Given the description of an element on the screen output the (x, y) to click on. 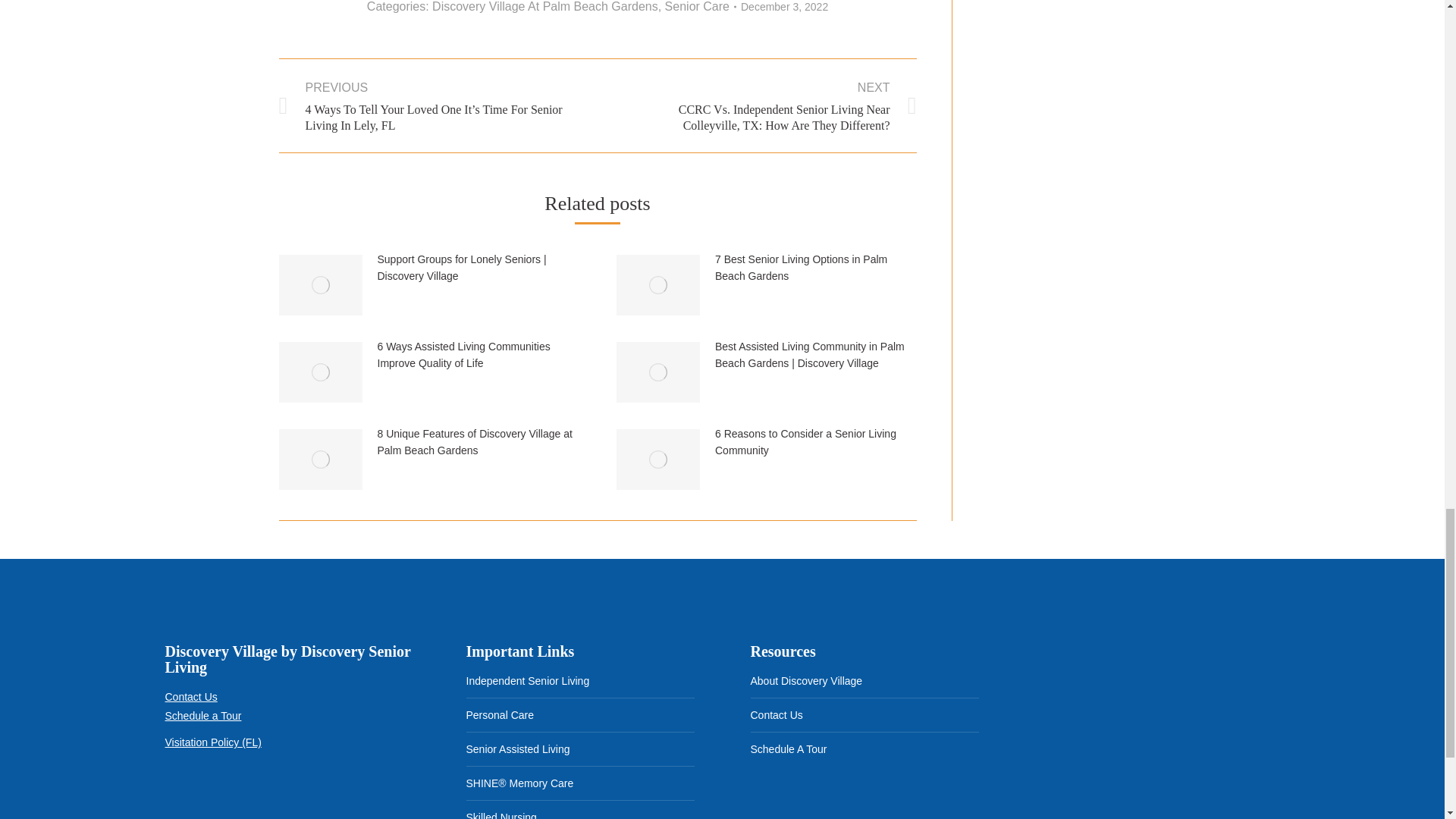
Discovery Map (1148, 729)
Equal-Housing-Opportunity-logo22-150x144 (259, 798)
12:26 pm (784, 8)
Equal-Housing-Opportunity-logo222 (189, 798)
